Given the description of an element on the screen output the (x, y) to click on. 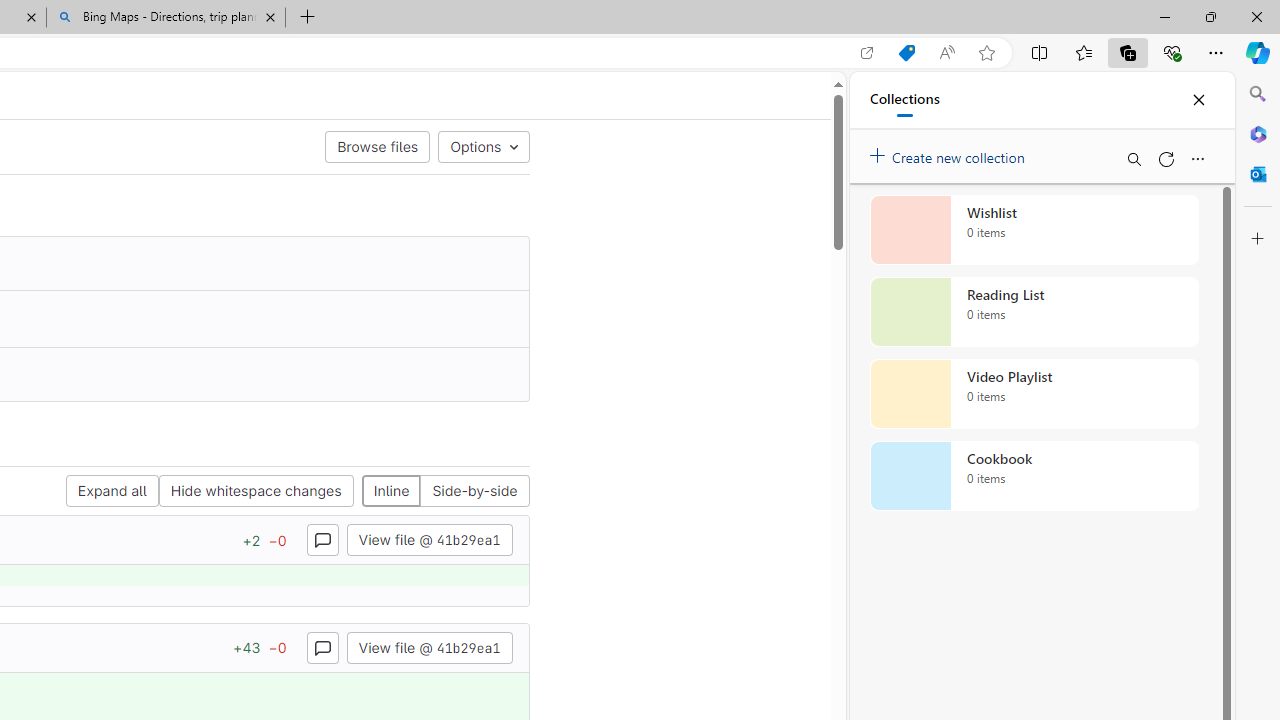
Add this page to favorites (Ctrl+D) (986, 53)
Create new collection (950, 153)
Browser essentials (1171, 52)
More options menu (1197, 158)
Collections (1128, 52)
Refresh (1165, 158)
Shopping in Microsoft Edge (906, 53)
Close (1198, 99)
Outlook (1258, 174)
Close tab (270, 16)
Browse files (378, 146)
Video Playlist collection, 0 items (1034, 394)
View file @ 41b29ea1 (429, 646)
Split screen (1039, 52)
